Given the description of an element on the screen output the (x, y) to click on. 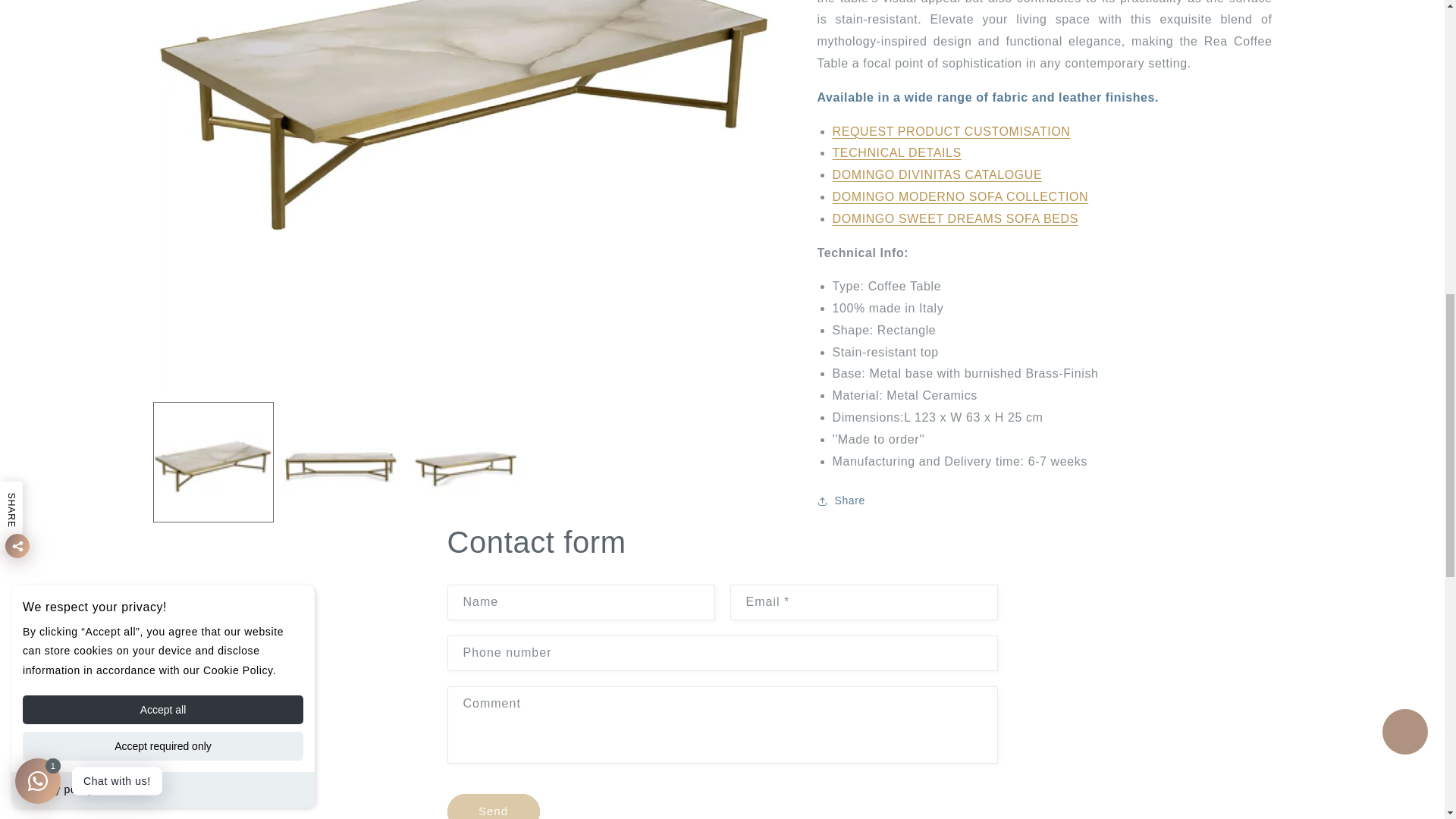
request product customisation (951, 131)
Rea Domingo Technical Details (896, 152)
domingo divinitas collection (937, 174)
domingo sofa beds collection (955, 218)
domingo moderno collection sofas (960, 196)
